Given the description of an element on the screen output the (x, y) to click on. 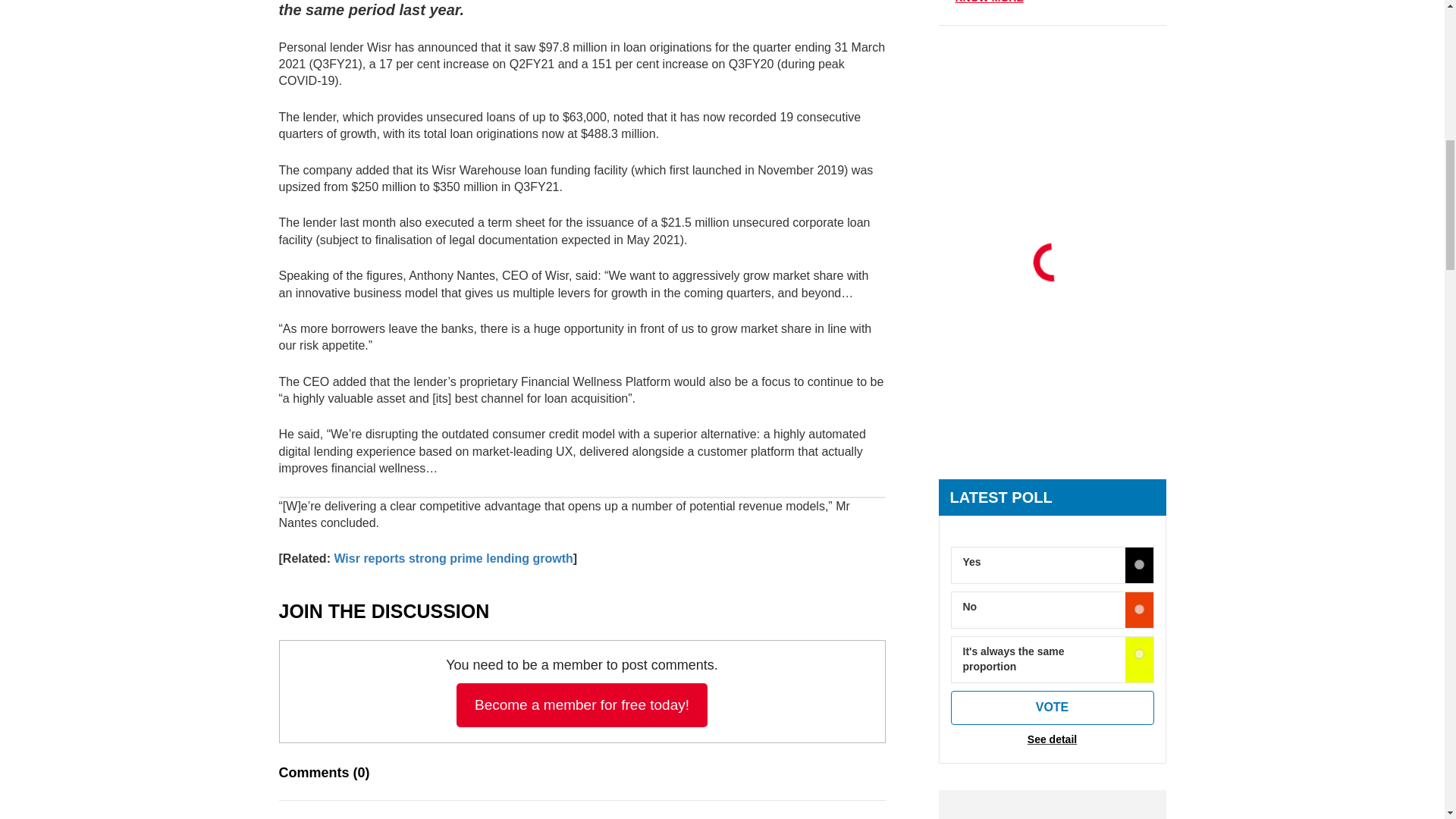
1 (1139, 609)
2 (1139, 654)
0 (1139, 564)
